Given the description of an element on the screen output the (x, y) to click on. 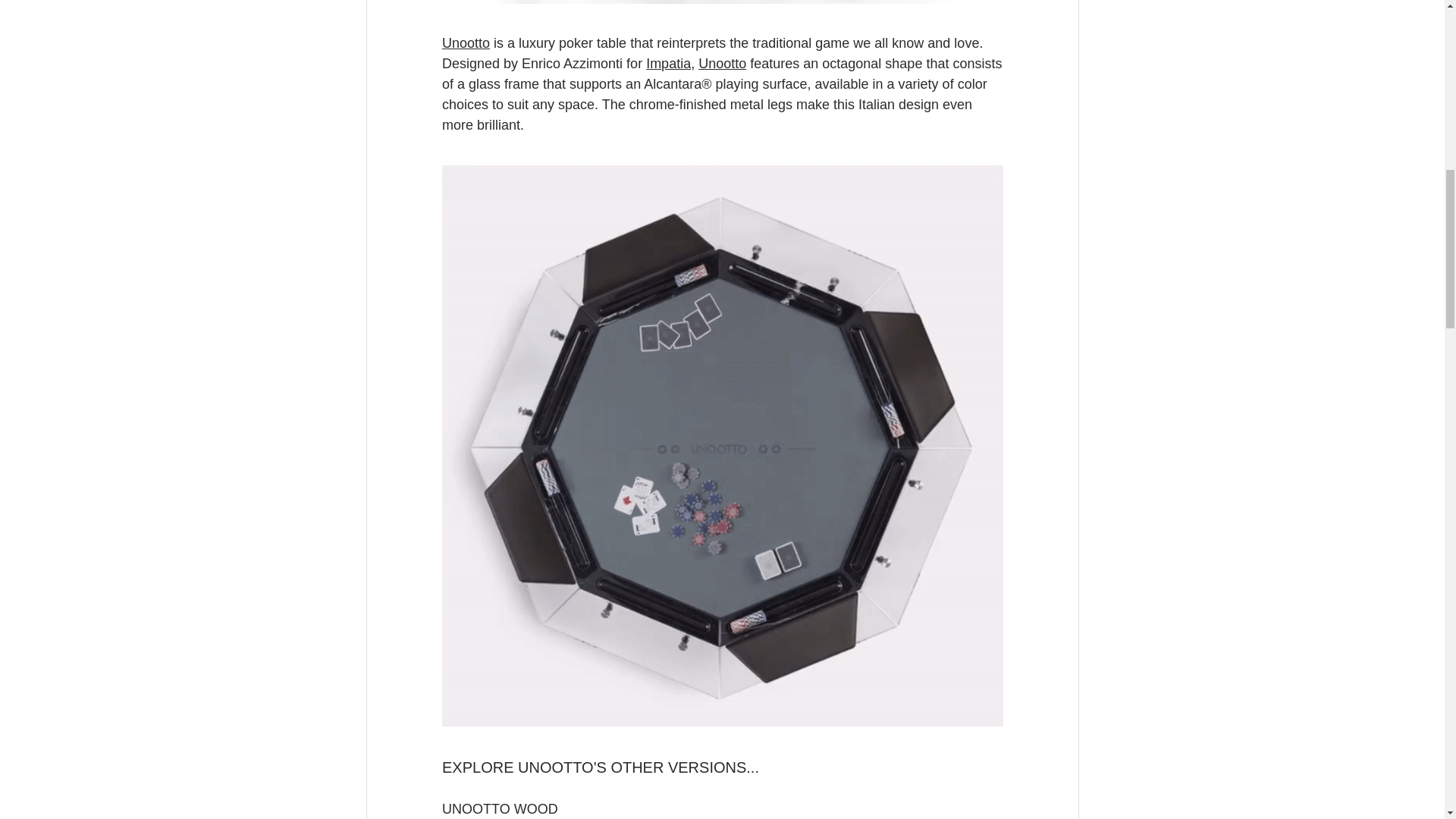
Unootto (465, 43)
Impatia (668, 63)
Unootto (721, 63)
